Given the description of an element on the screen output the (x, y) to click on. 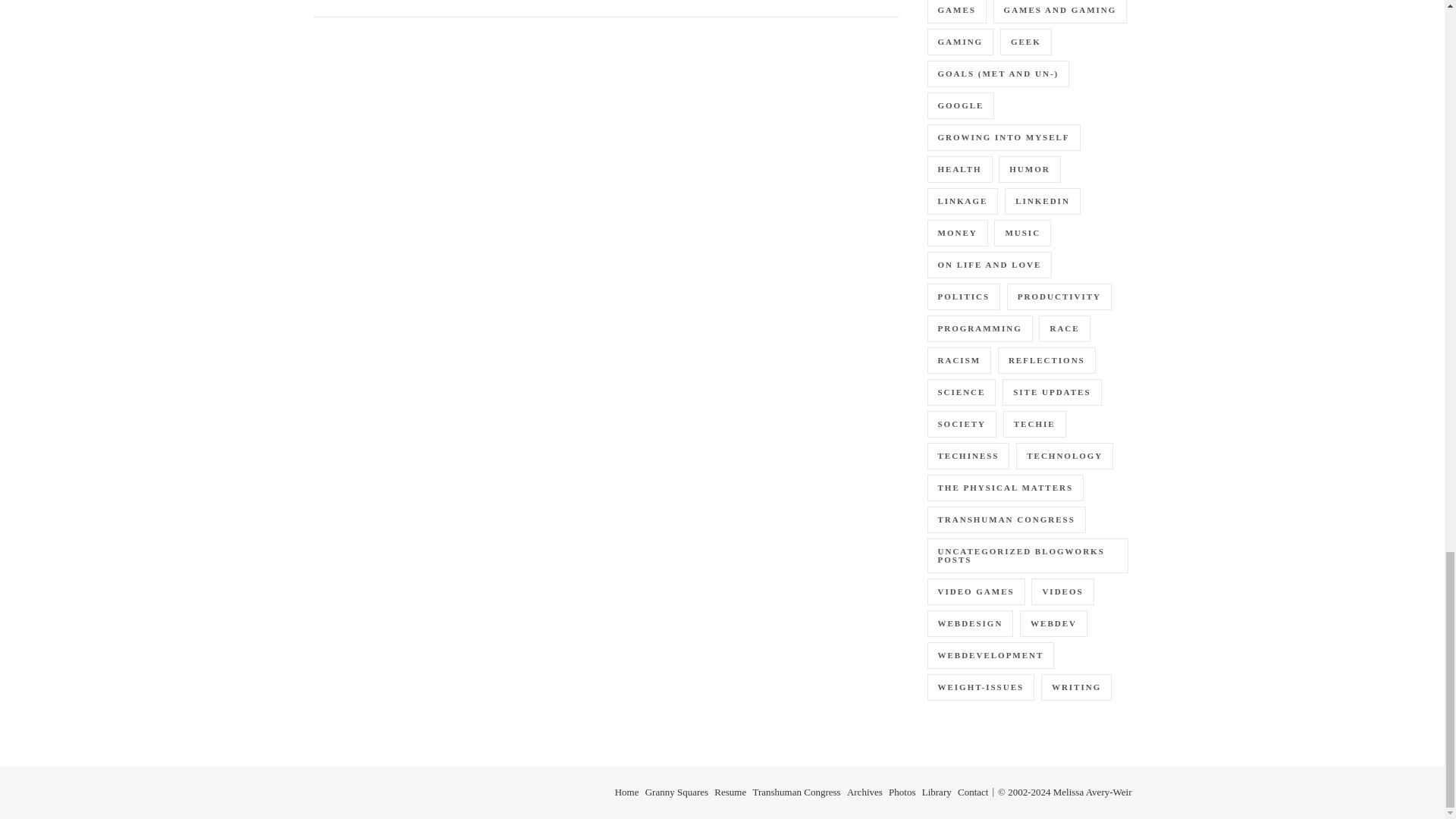
Melissa Avery-Weir (371, 2)
